Given the description of an element on the screen output the (x, y) to click on. 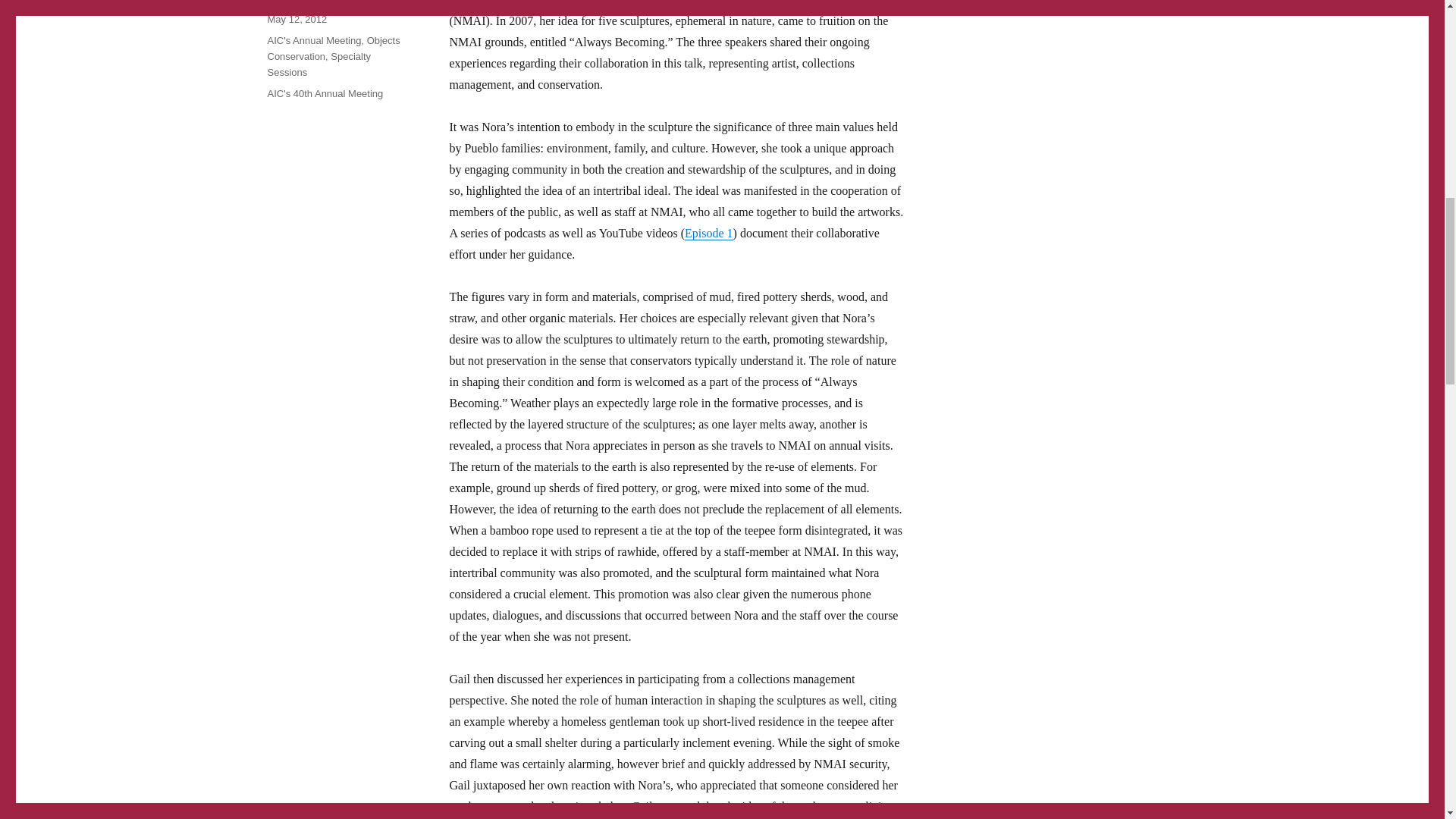
BrittanyDolph (296, 2)
Specialty Sessions (318, 63)
AIC's Annual Meeting (313, 40)
May 12, 2012 (296, 19)
Objects Conservation (332, 48)
AIC's 40th Annual Meeting (324, 93)
Episode 1 (708, 232)
Always Becoming (708, 232)
